Given the description of an element on the screen output the (x, y) to click on. 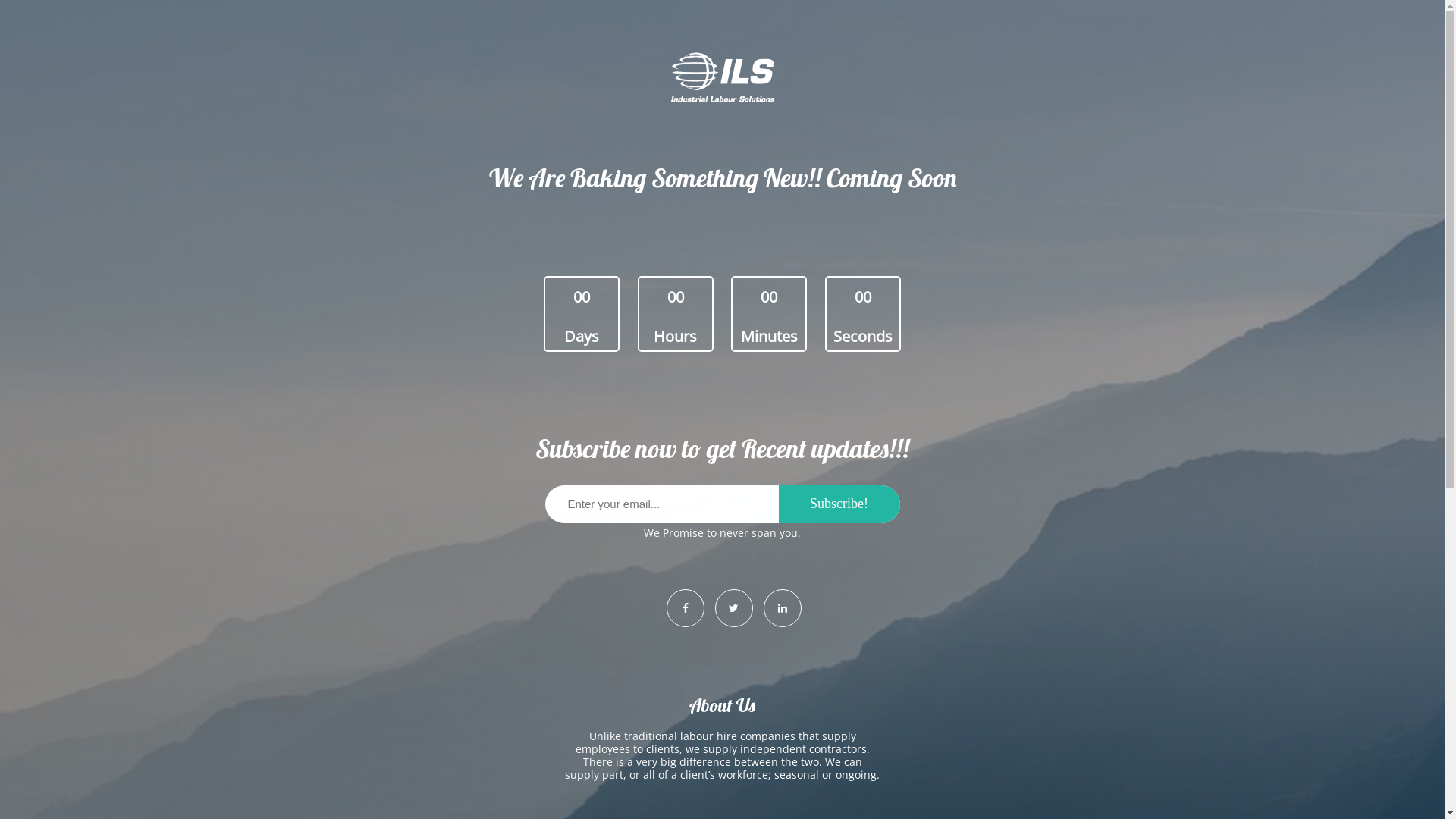
Subscribe! Element type: text (838, 504)
